Given the description of an element on the screen output the (x, y) to click on. 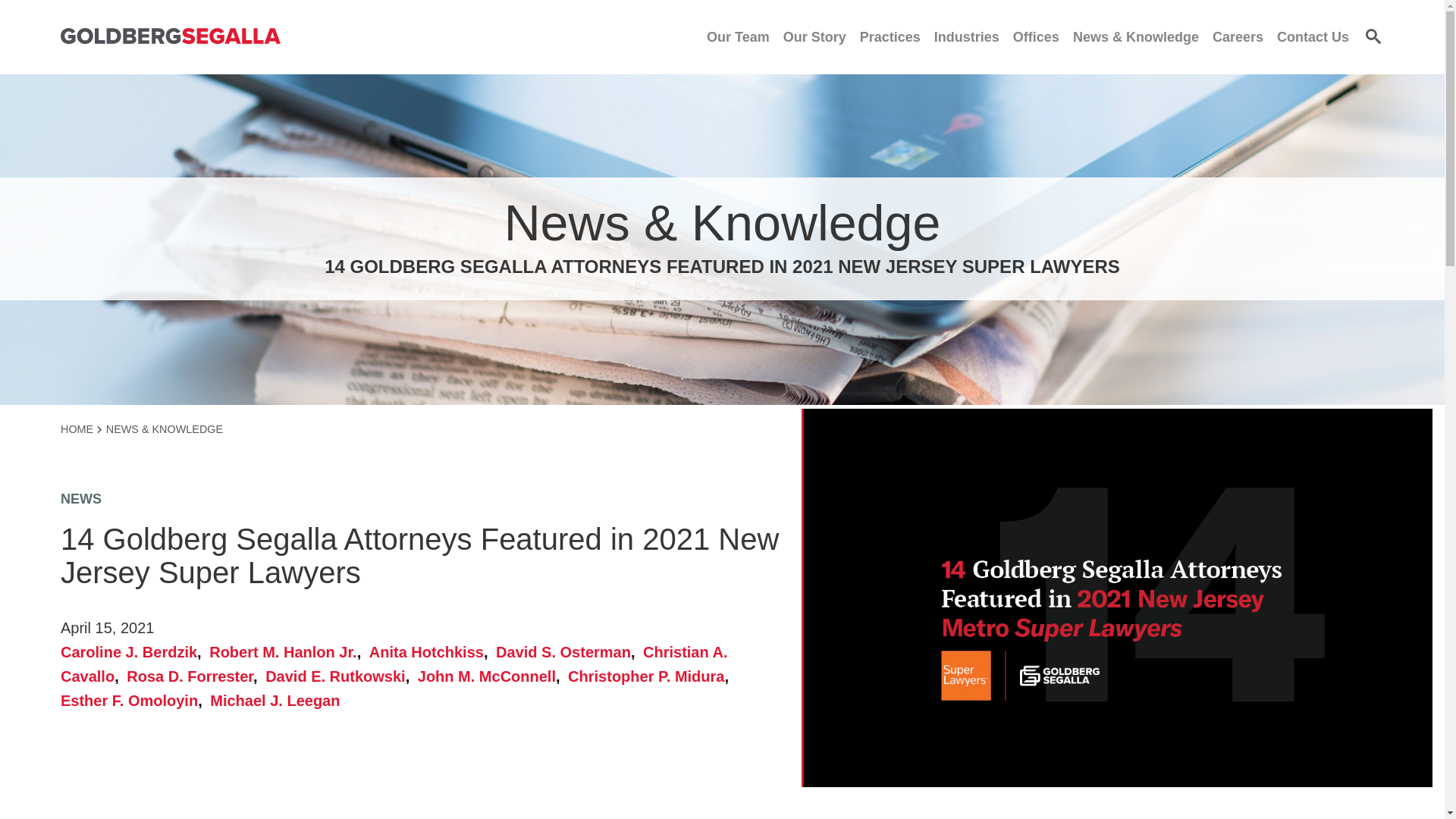
Caroline J. Berdzik (133, 651)
John M. McConnell (490, 676)
Rosa D. Forrester (193, 676)
Industries (966, 37)
Our Story (814, 37)
David S. Osterman (567, 651)
David E. Rutkowski (338, 676)
Offices (1036, 37)
Christian A. Cavallo (394, 663)
Michael J. Leegan (274, 700)
